Given the description of an element on the screen output the (x, y) to click on. 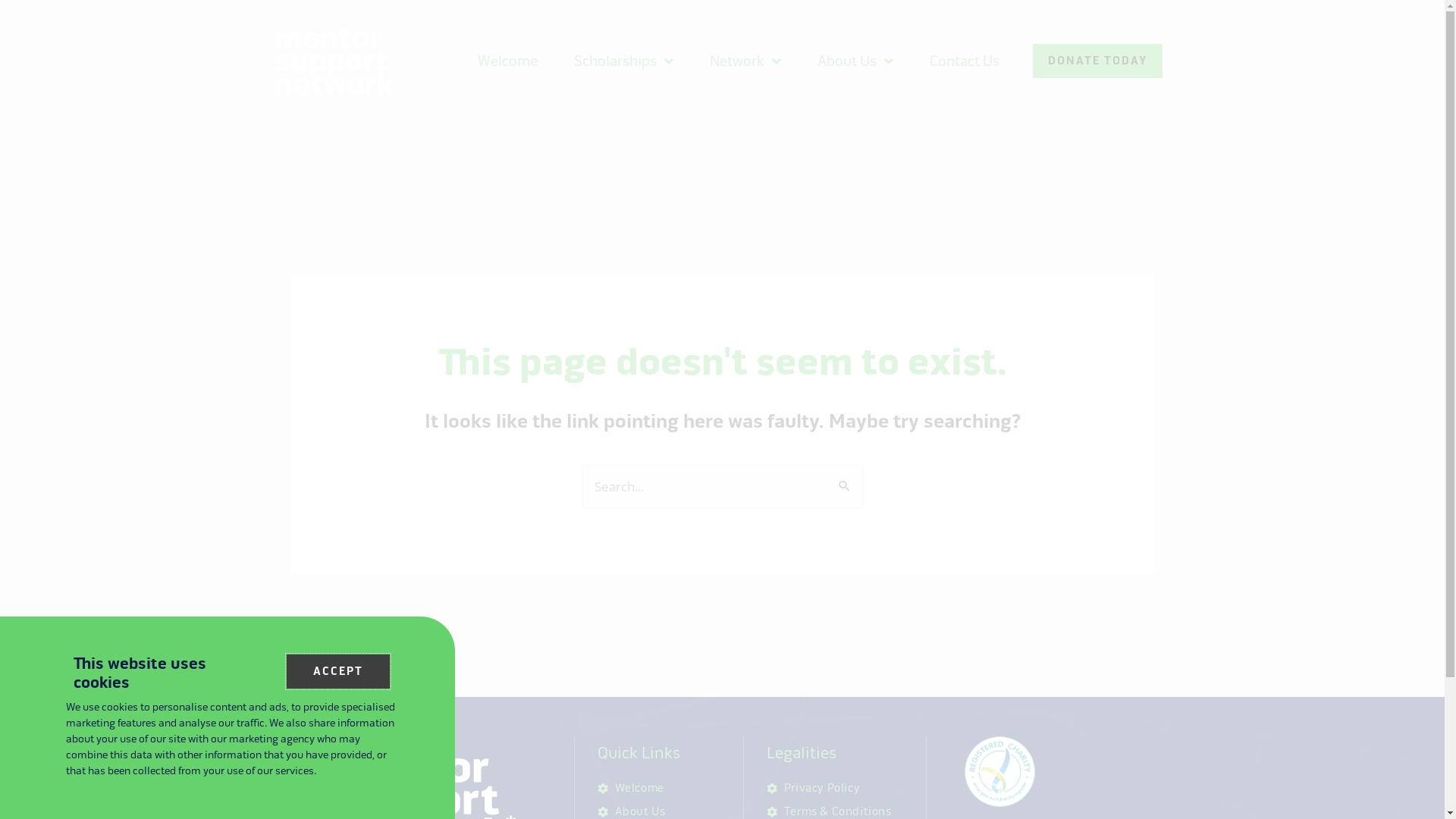
DONATE TODAY Element type: text (1097, 60)
ACCEPT Element type: text (337, 671)
Privacy Policy Element type: text (842, 788)
Contact Us Element type: text (964, 60)
Welcome Element type: text (507, 60)
Search Element type: text (845, 479)
Scholarships Element type: text (623, 60)
About Us Element type: text (855, 60)
Welcome Element type: text (666, 788)
Network Element type: text (745, 60)
